Given the description of an element on the screen output the (x, y) to click on. 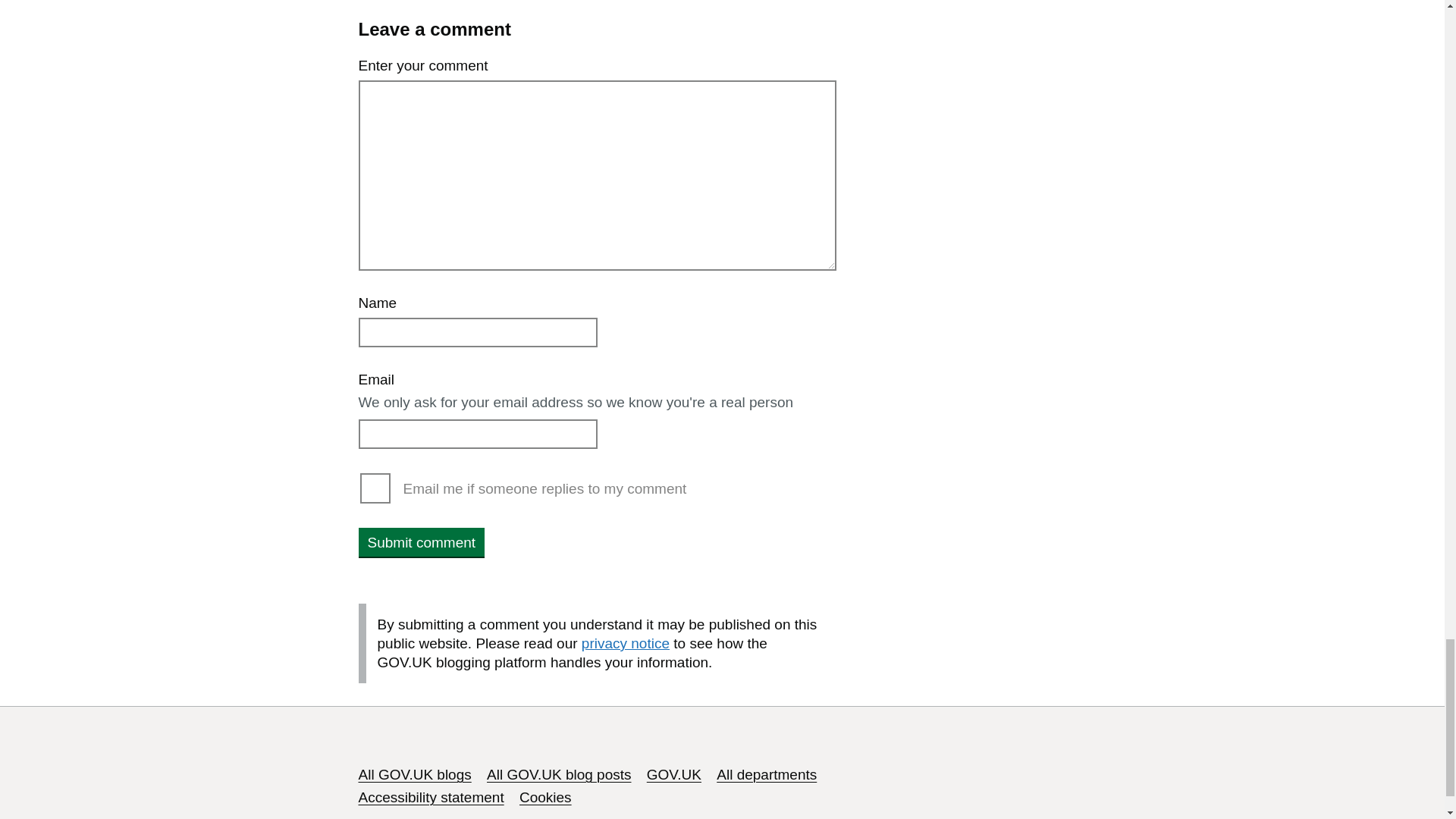
All departments (766, 774)
Submit comment (421, 541)
Cookies (545, 797)
All GOV.UK blog posts (558, 774)
Accessibility statement (430, 797)
privacy notice (624, 643)
All GOV.UK blogs (414, 774)
GOV.UK (673, 774)
